Given the description of an element on the screen output the (x, y) to click on. 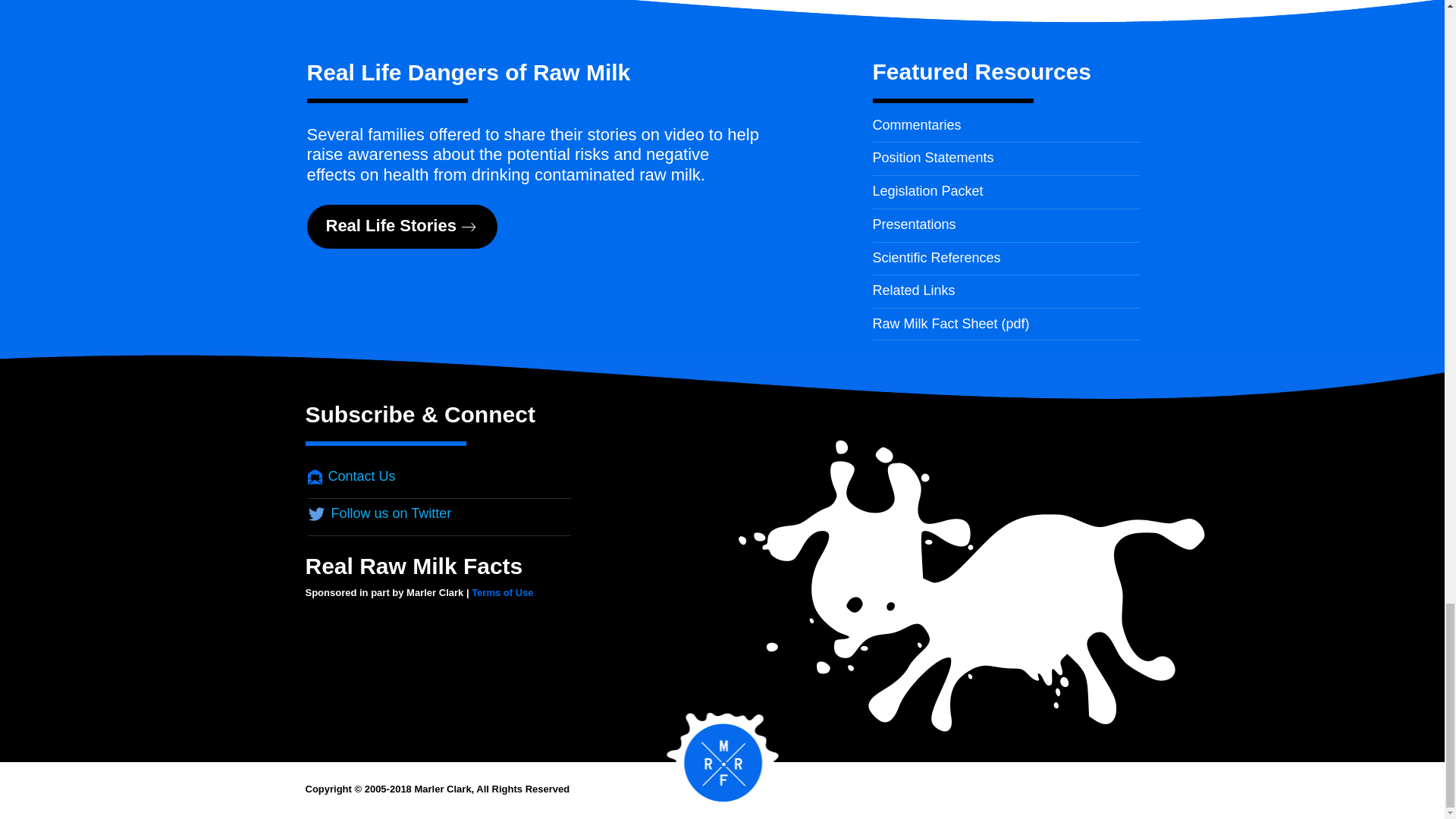
Follow us on Twitter (379, 513)
Contact Us (351, 476)
Commentaries (916, 124)
Presentations (913, 224)
Scientific References (936, 257)
Real Life Stories (401, 226)
Legislation Packet (927, 191)
Related Links (913, 290)
Position Statements (932, 157)
Terms of Use (501, 592)
